Given the description of an element on the screen output the (x, y) to click on. 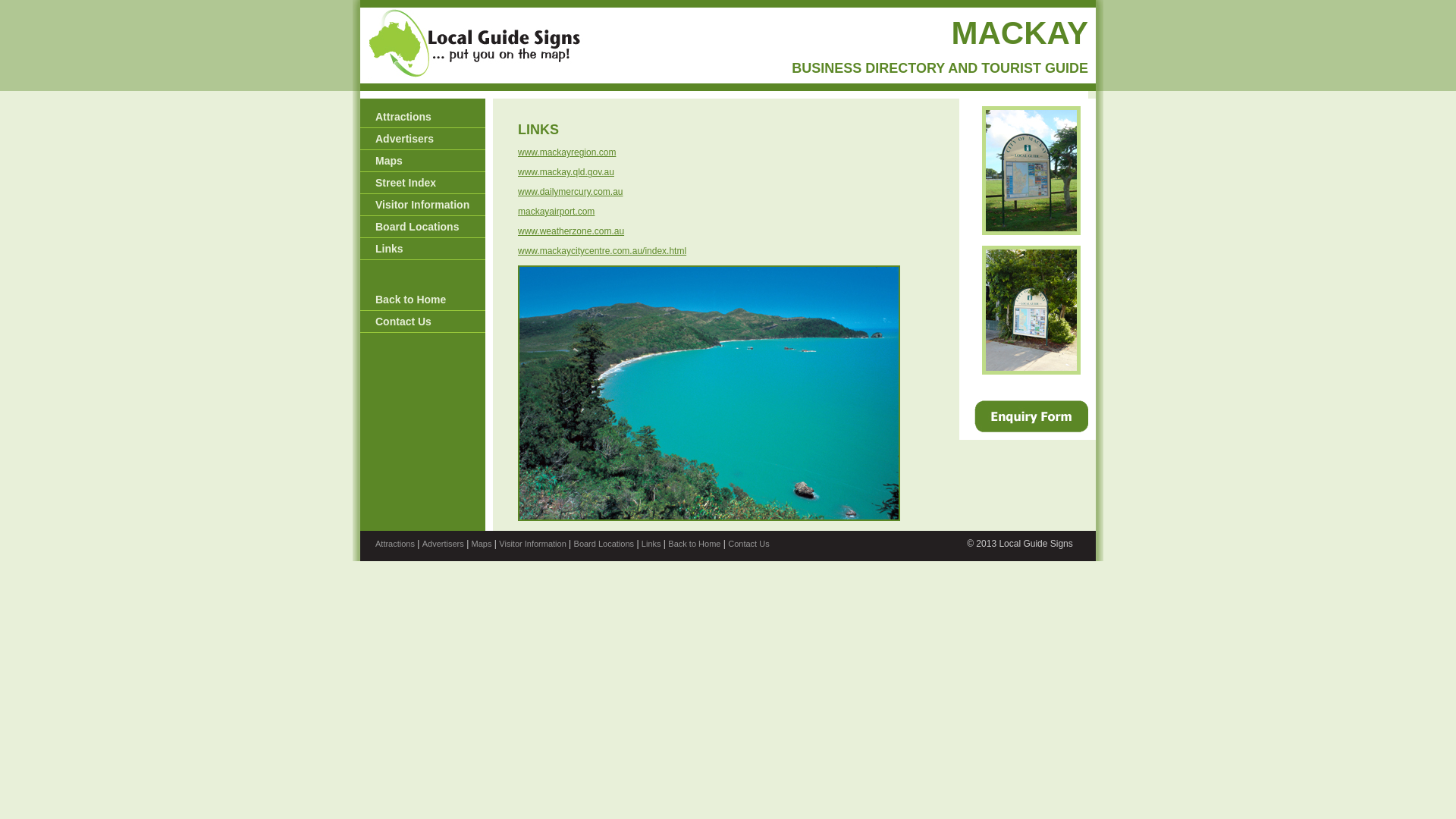
Advertisers Element type: text (443, 543)
www.weatherzone.com.au Element type: text (570, 230)
Links Element type: text (651, 543)
Advertisers Element type: text (422, 139)
www.mackaycitycentre.com.au/index.html Element type: text (601, 250)
Contact Us Element type: text (422, 321)
mackayairport.com Element type: text (555, 211)
Links Element type: text (422, 249)
Attractions Element type: text (422, 117)
Back to Home Element type: text (422, 299)
Street Index Element type: text (422, 183)
Board Locations Element type: text (422, 227)
Contact Us Element type: text (748, 543)
www.mackay.qld.gov.au Element type: text (565, 171)
Back to Home Element type: text (694, 543)
Visitor Information Element type: text (531, 543)
www.dailymercury.com.au Element type: text (569, 191)
Attractions Element type: text (394, 543)
www.mackayregion.com Element type: text (566, 152)
Visitor Information Element type: text (422, 205)
Board Locations Element type: text (604, 543)
Maps Element type: text (422, 161)
Maps Element type: text (481, 543)
